Given the description of an element on the screen output the (x, y) to click on. 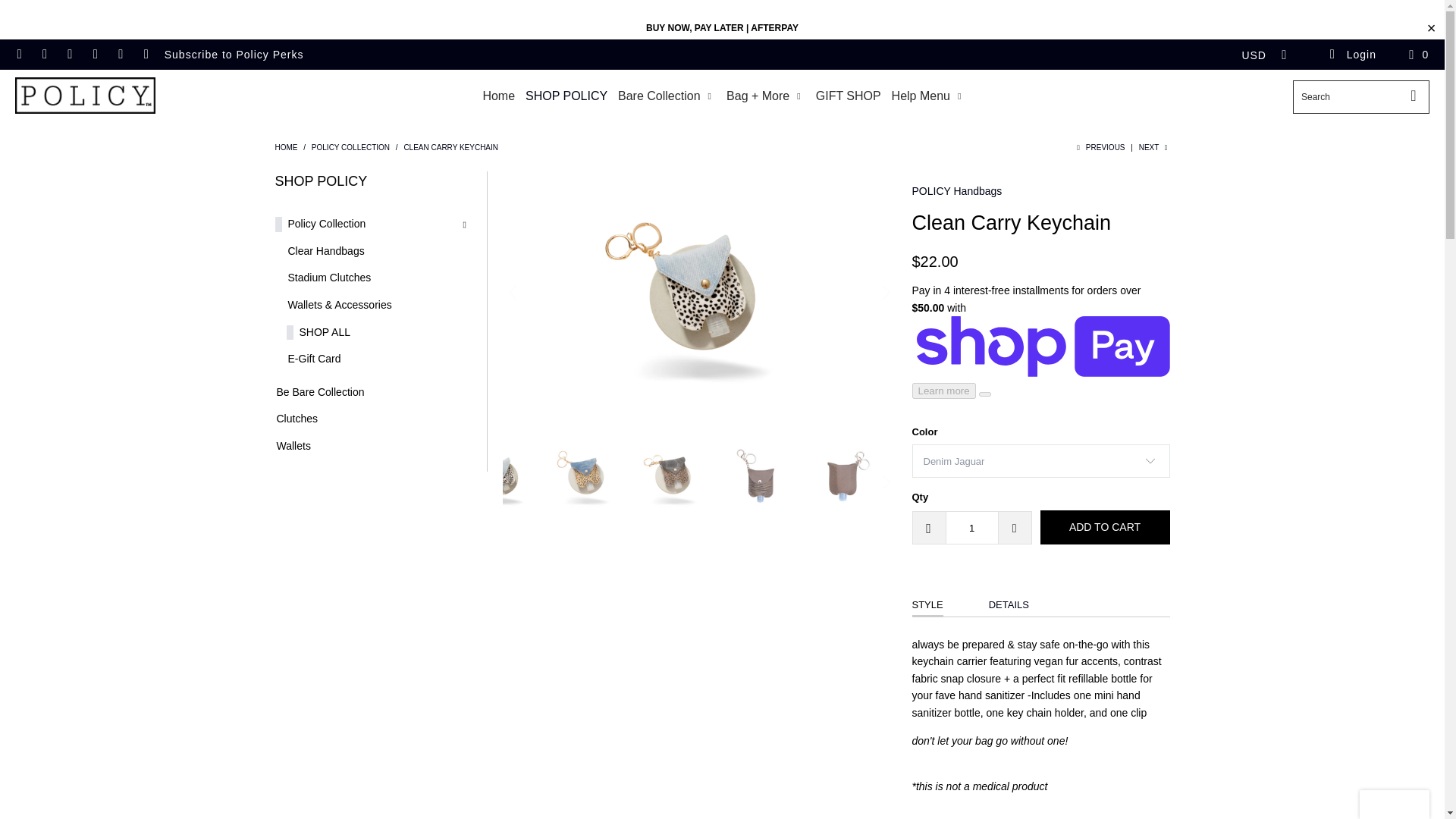
POLICY Handbags on Pinterest (69, 54)
POLICY Handbags on LinkedIn (120, 54)
1 (970, 527)
POLICY Handbags on Instagram (94, 54)
POLICY Handbags (286, 147)
Next (1154, 147)
POLICY Handbags (956, 191)
POLICY Collection (350, 147)
POLICY Handbags on Twitter (18, 54)
POLICY Handbags (84, 96)
My Account  (1351, 54)
POLICY Handbags on Facebook (43, 54)
Email POLICY Handbags (145, 54)
Previous (1099, 147)
